Given the description of an element on the screen output the (x, y) to click on. 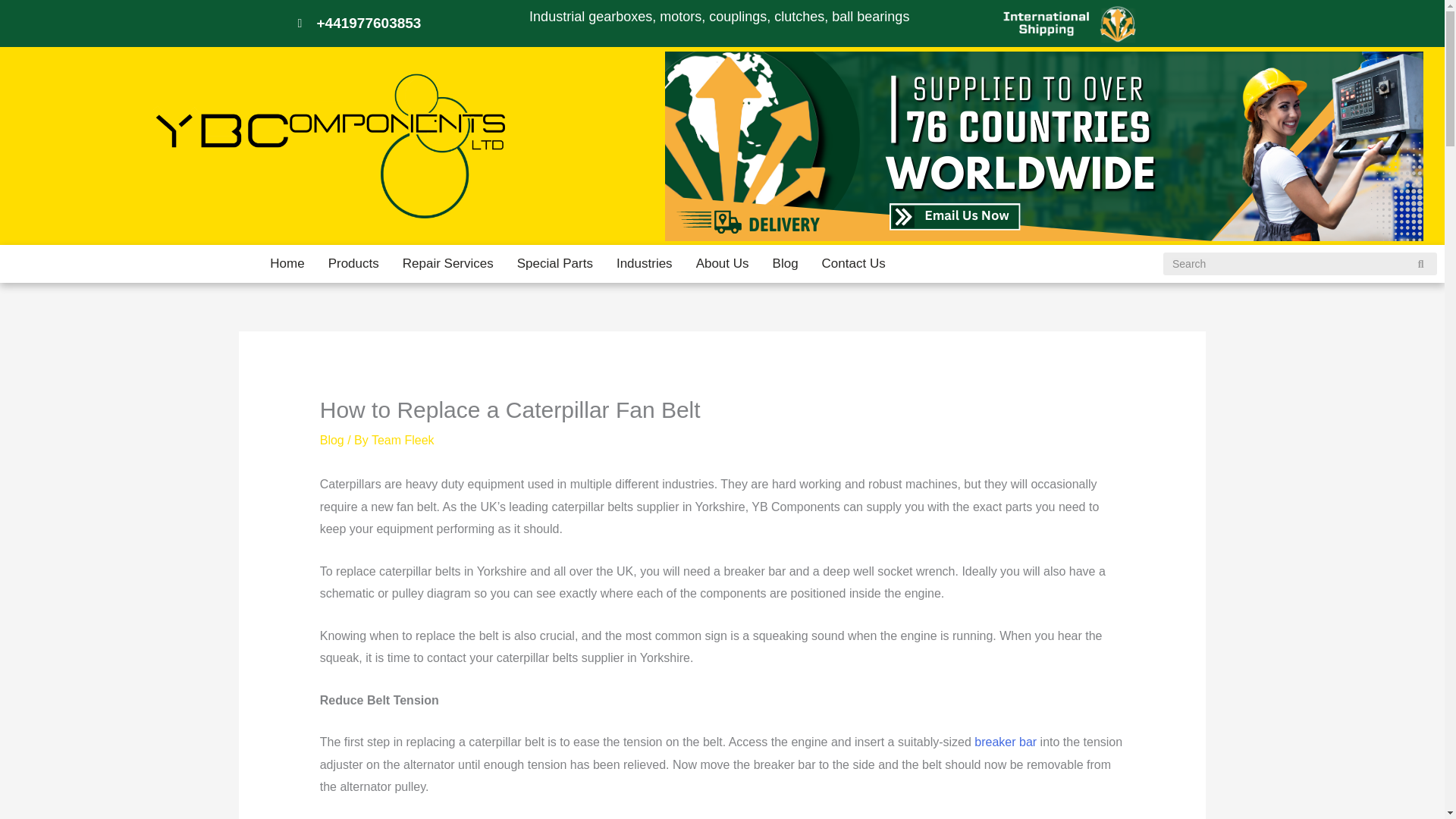
Special Parts (554, 263)
About Us (722, 263)
Contact Us (853, 263)
Home (287, 263)
Blog (331, 440)
breaker bar (1005, 741)
Team Fleek (402, 440)
Industries (644, 263)
View all posts by Team Fleek (402, 440)
Blog (785, 263)
Products (353, 263)
Repair Services (448, 263)
